Given the description of an element on the screen output the (x, y) to click on. 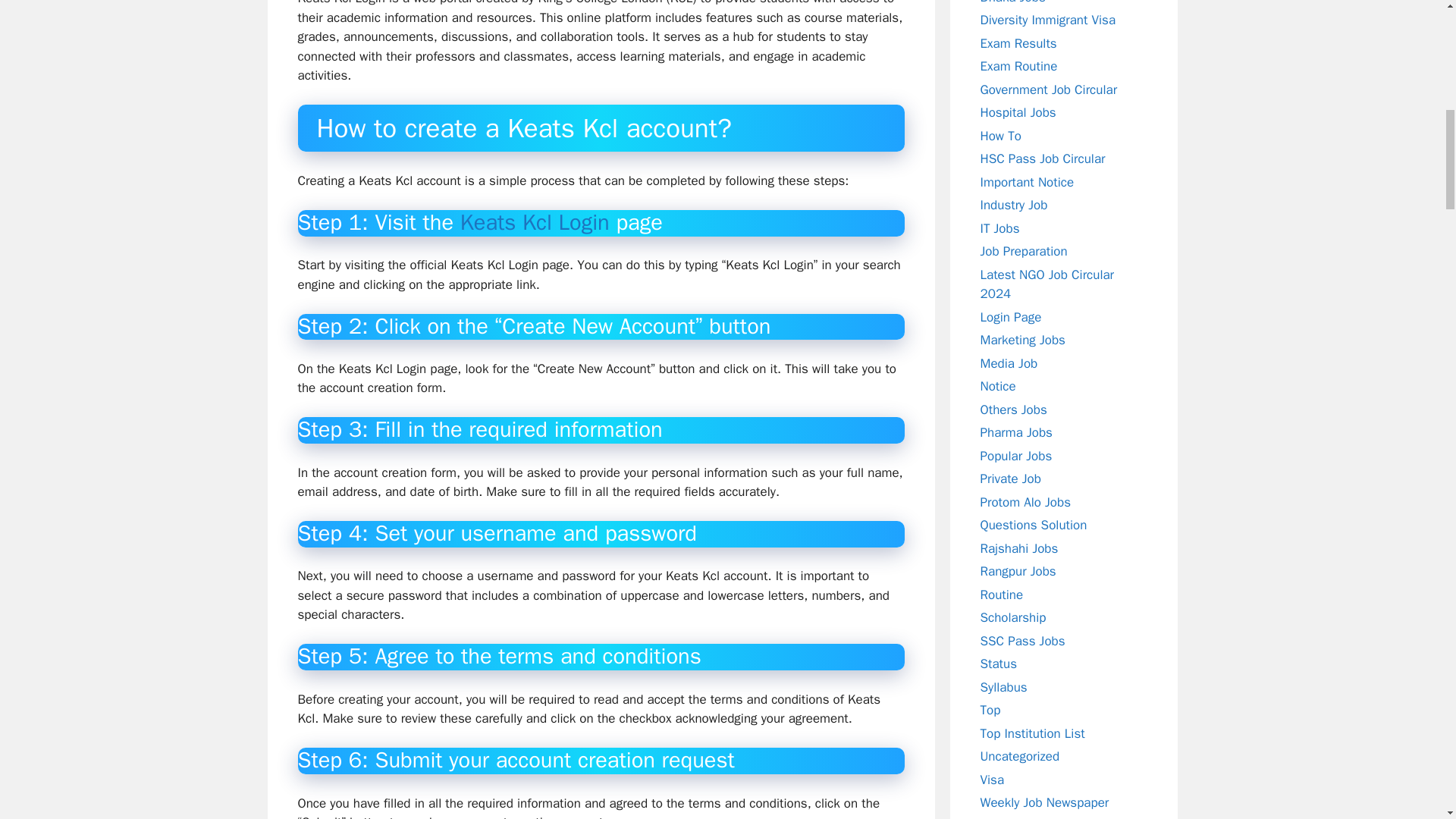
Keats Kcl Login (535, 222)
